Given the description of an element on the screen output the (x, y) to click on. 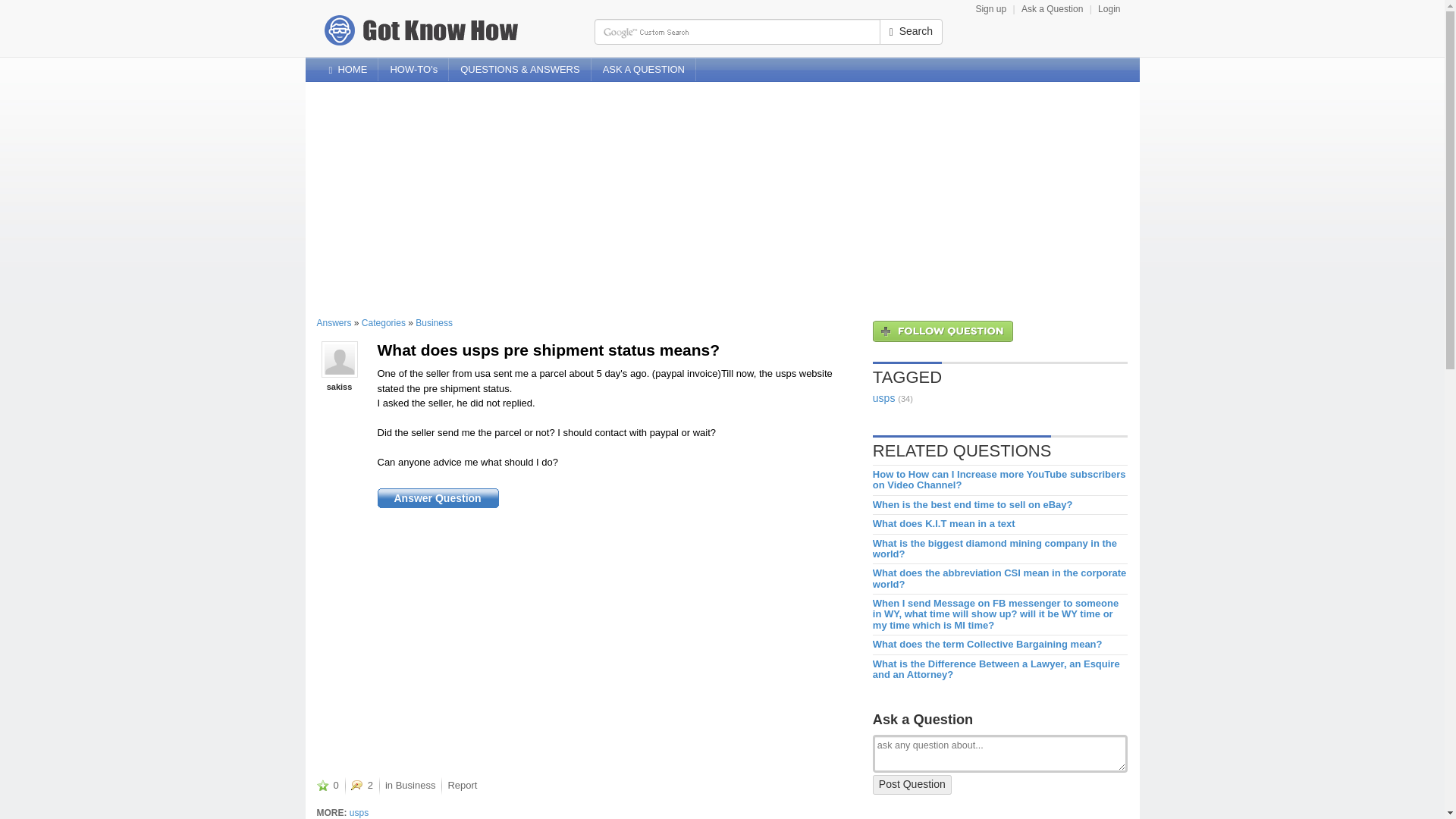
Business (433, 322)
ASK A QUESTION (643, 69)
 HOME (347, 69)
Answer Question (437, 498)
Login (1108, 9)
sakiss (339, 386)
0 (328, 785)
Facebook Page (1104, 62)
2 (361, 785)
Twitter Profile (1127, 62)
Post Question (912, 784)
Ask a Question (1052, 9)
Sign up (990, 9)
Answers (361, 785)
